Given the description of an element on the screen output the (x, y) to click on. 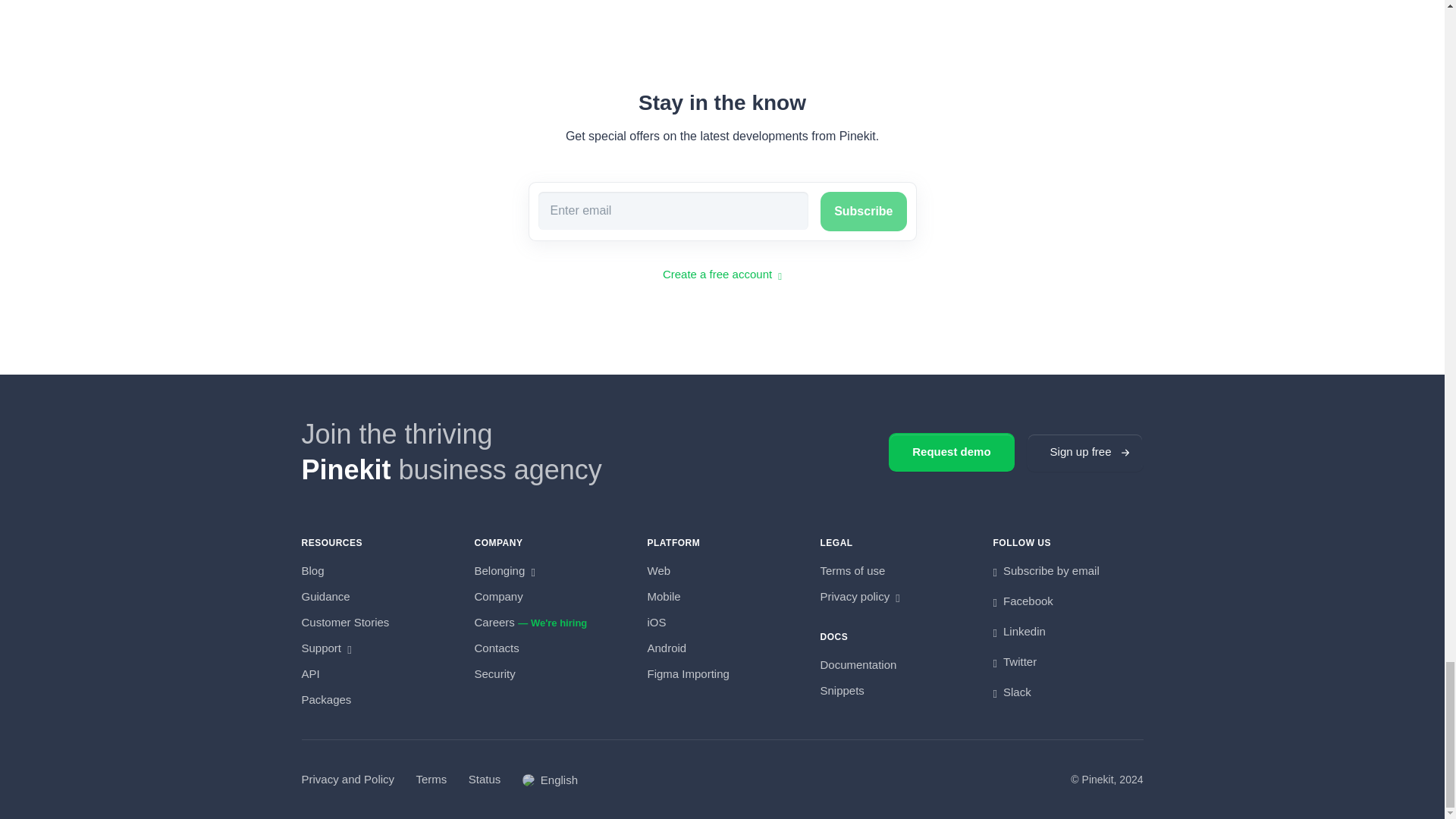
Create a free account (721, 274)
Subscribe (863, 210)
Guidance (325, 597)
API (310, 674)
Support (326, 648)
Careers (494, 622)
Belonging (504, 570)
Request demo (950, 452)
Packages (326, 700)
Customer Stories (345, 622)
Blog (312, 570)
Sign up free (1084, 452)
Company (498, 597)
